Given the description of an element on the screen output the (x, y) to click on. 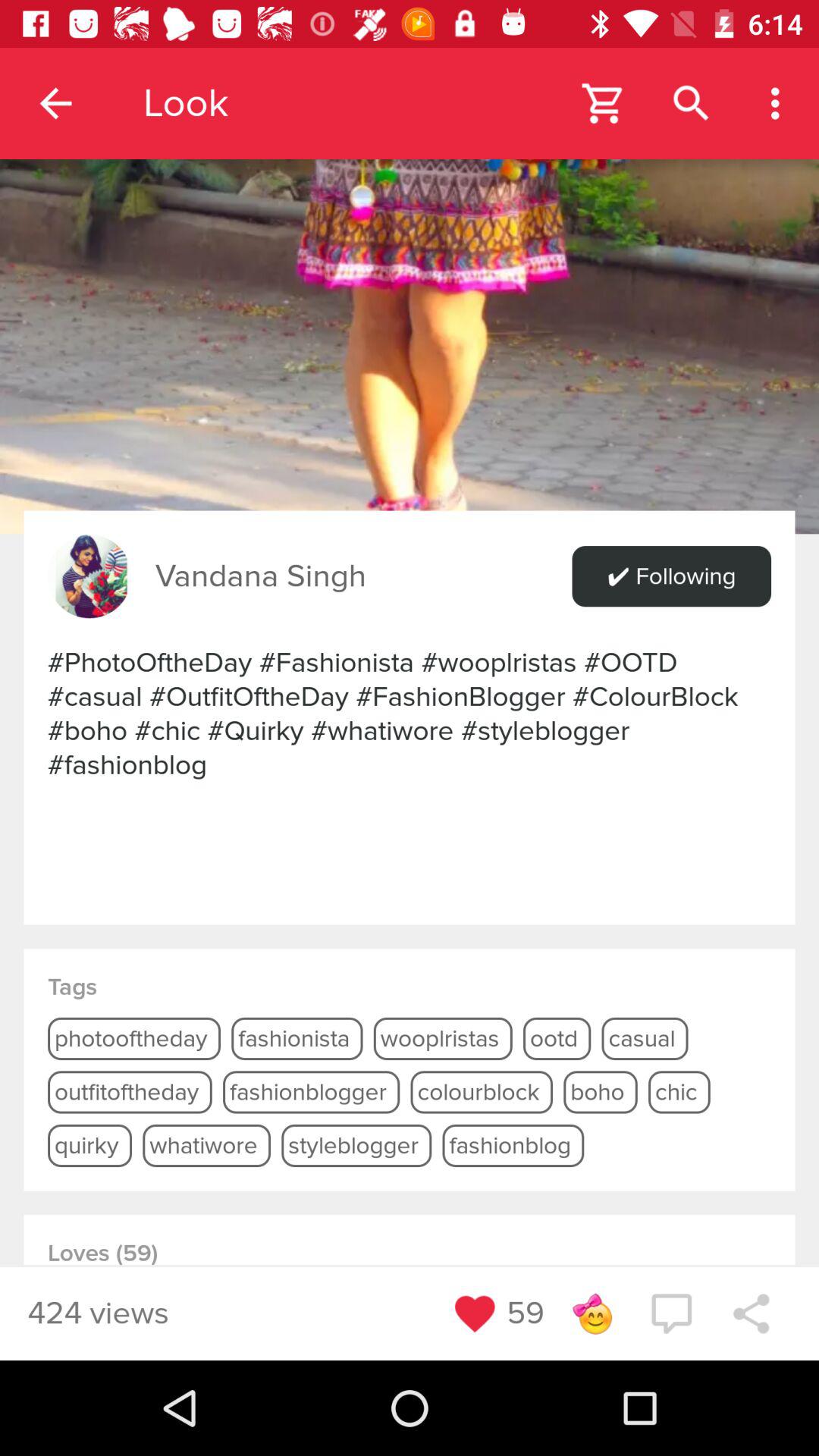
choose item to the right of 59 (591, 1313)
